Given the description of an element on the screen output the (x, y) to click on. 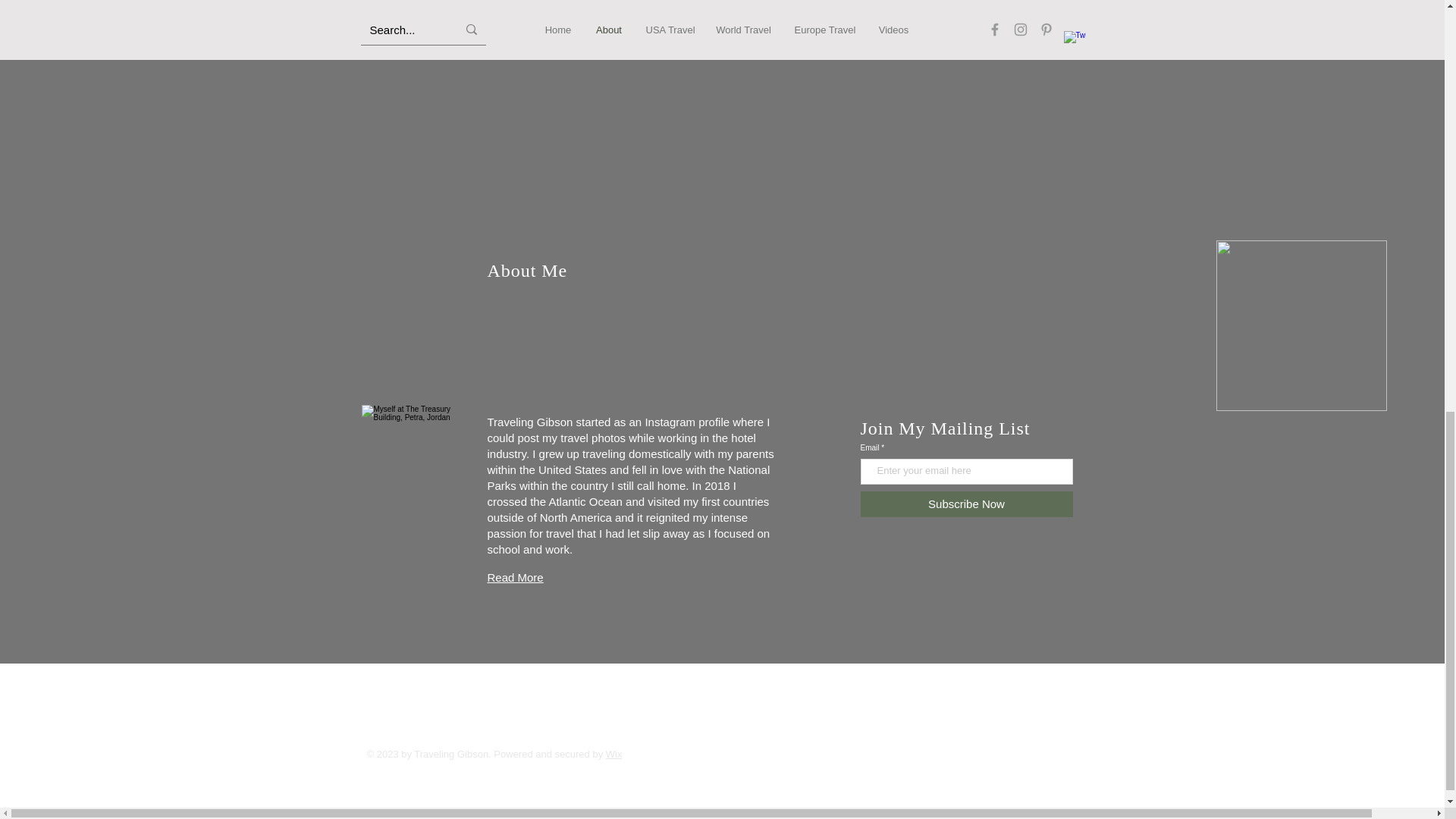
Android Playstore Logo.png (1301, 325)
Subscribe Now (965, 503)
Read More (514, 576)
Wix (614, 754)
